Given the description of an element on the screen output the (x, y) to click on. 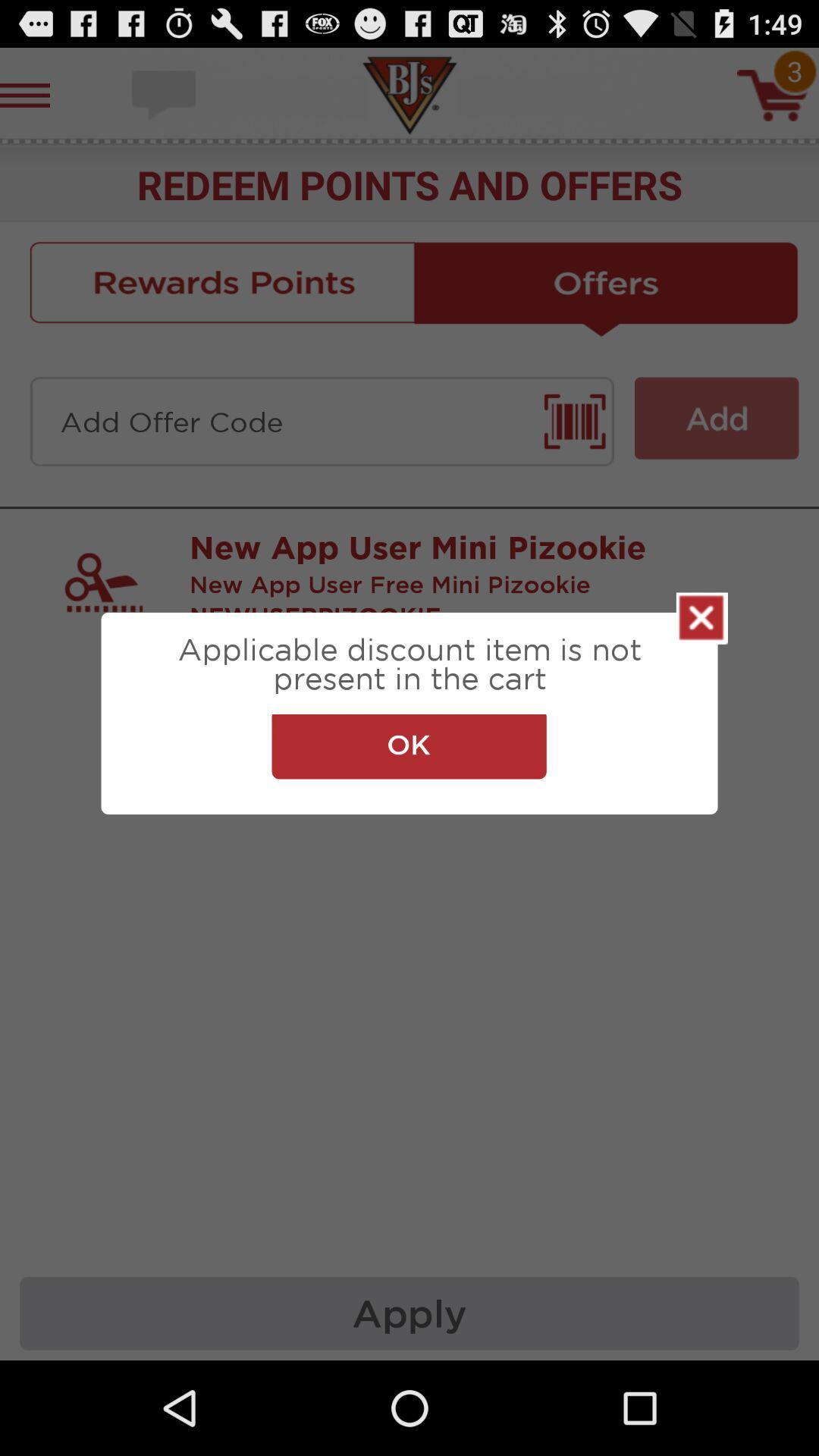
exit popup notification (702, 618)
